Given the description of an element on the screen output the (x, y) to click on. 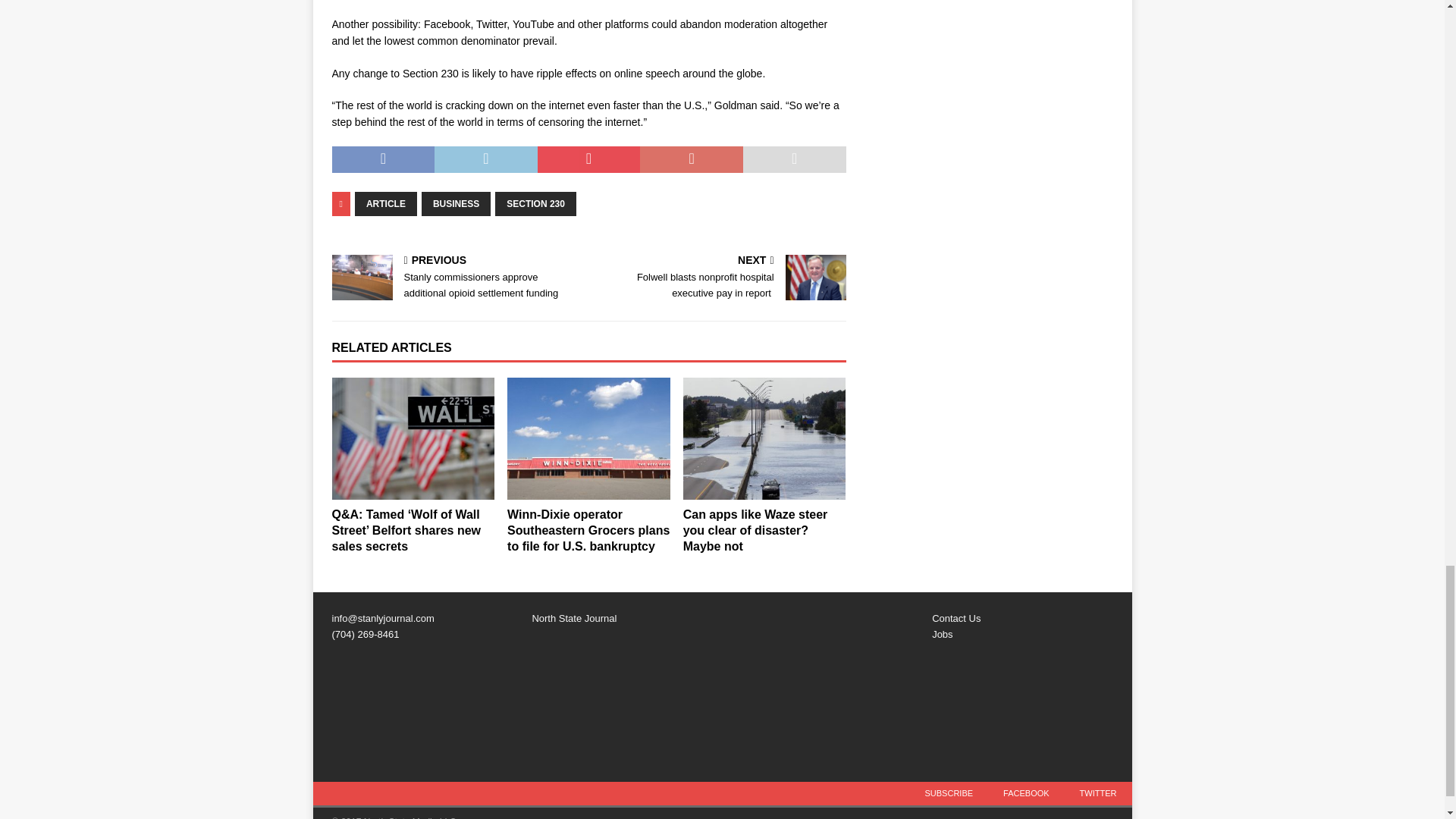
ARTICLE (385, 203)
BUSINESS (456, 203)
SECTION 230 (535, 203)
